Given the description of an element on the screen output the (x, y) to click on. 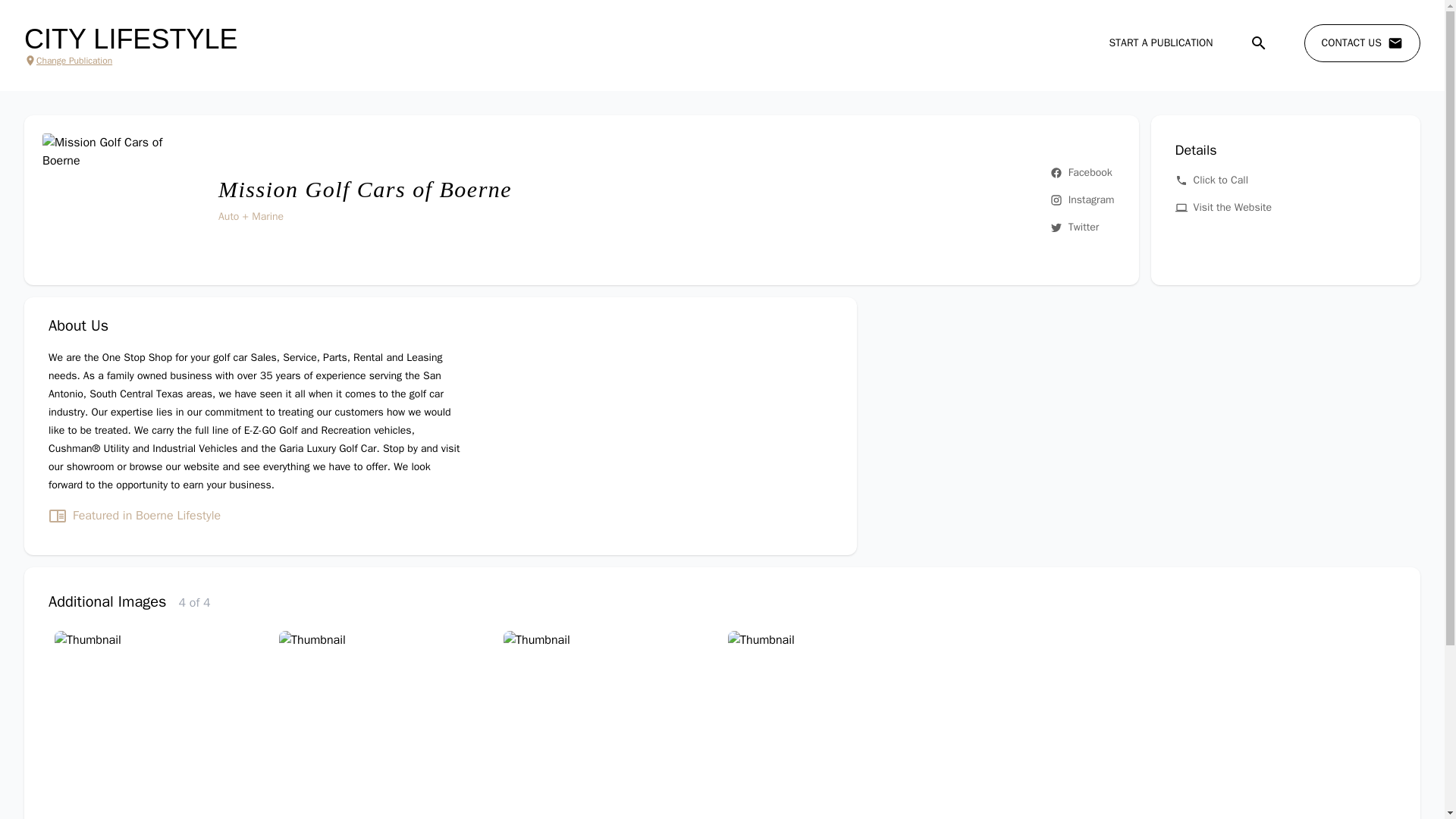
START A PUBLICATION (1160, 42)
Twitter (1082, 227)
Instagram (1082, 200)
Visit the Website (1285, 207)
Click to Call (1285, 180)
CITY LIFESTYLE (130, 39)
CONTACT US (1362, 43)
Facebook (1082, 172)
Change Publication (130, 60)
